Given the description of an element on the screen output the (x, y) to click on. 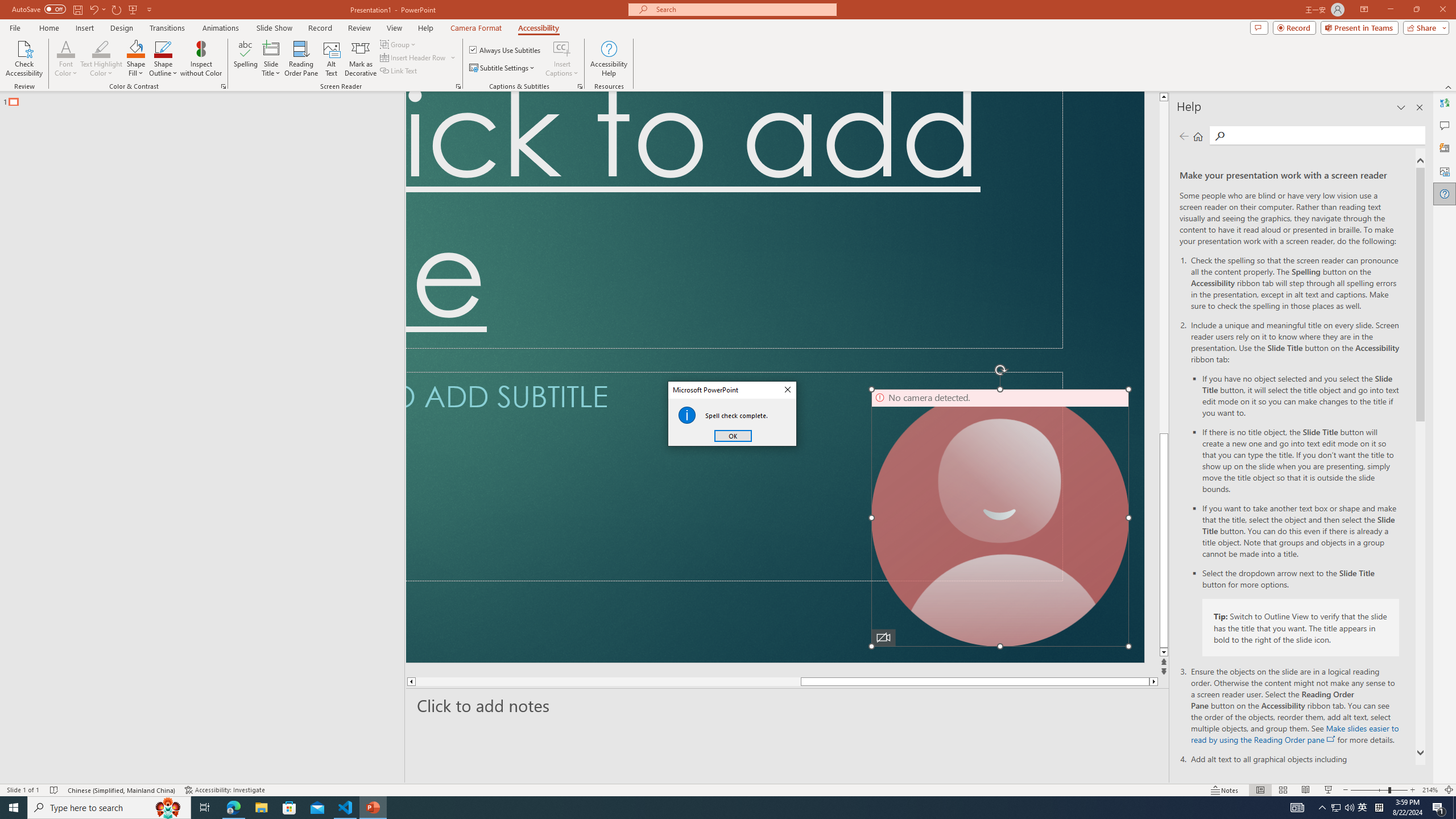
Captions & Subtitles (580, 85)
Always Use Subtitles (505, 49)
